Given the description of an element on the screen output the (x, y) to click on. 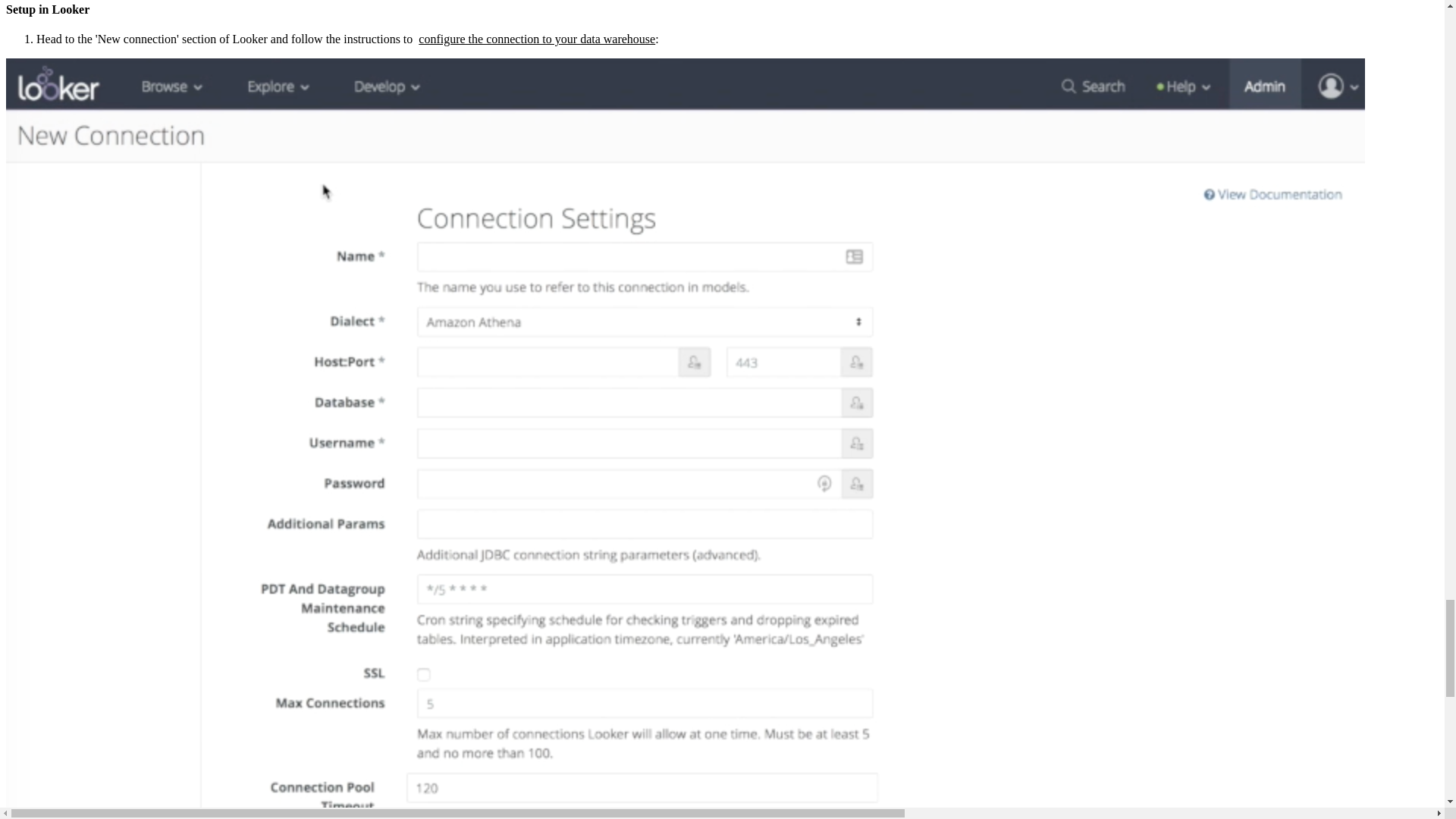
configure the connection to your data warehouse (537, 38)
